Given the description of an element on the screen output the (x, y) to click on. 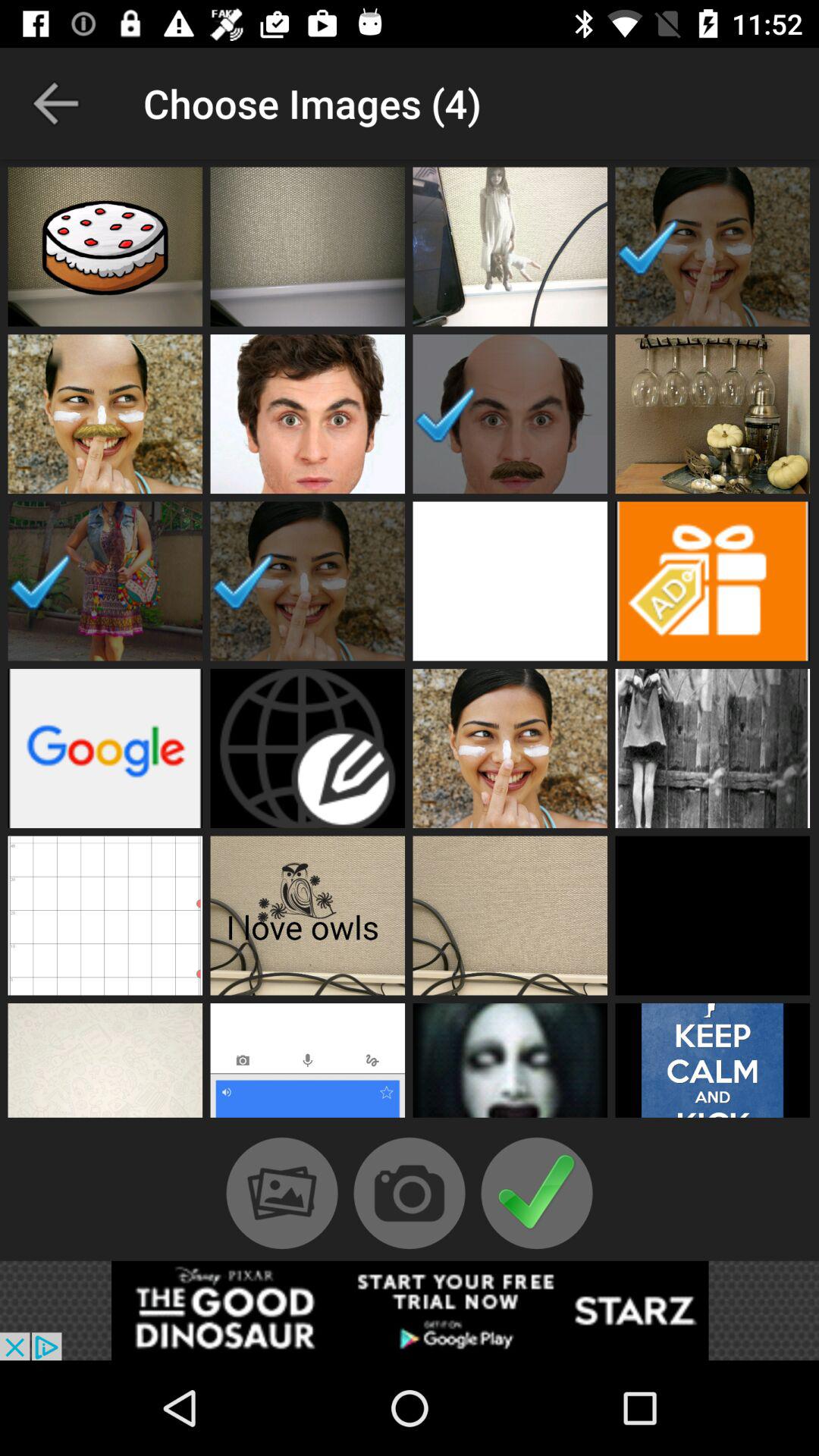
image choice (104, 915)
